Given the description of an element on the screen output the (x, y) to click on. 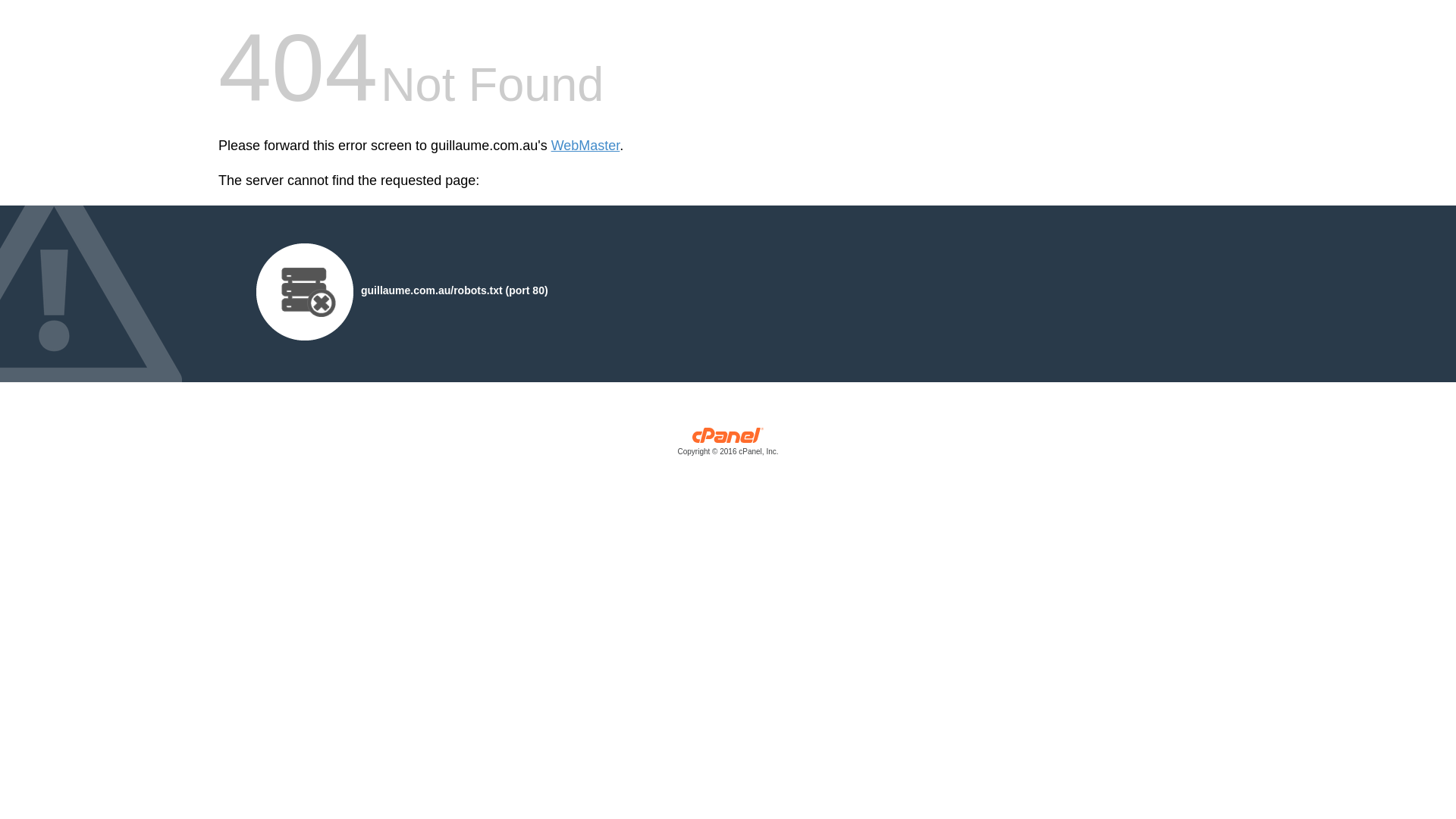
WebMaster Element type: text (585, 145)
